Given the description of an element on the screen output the (x, y) to click on. 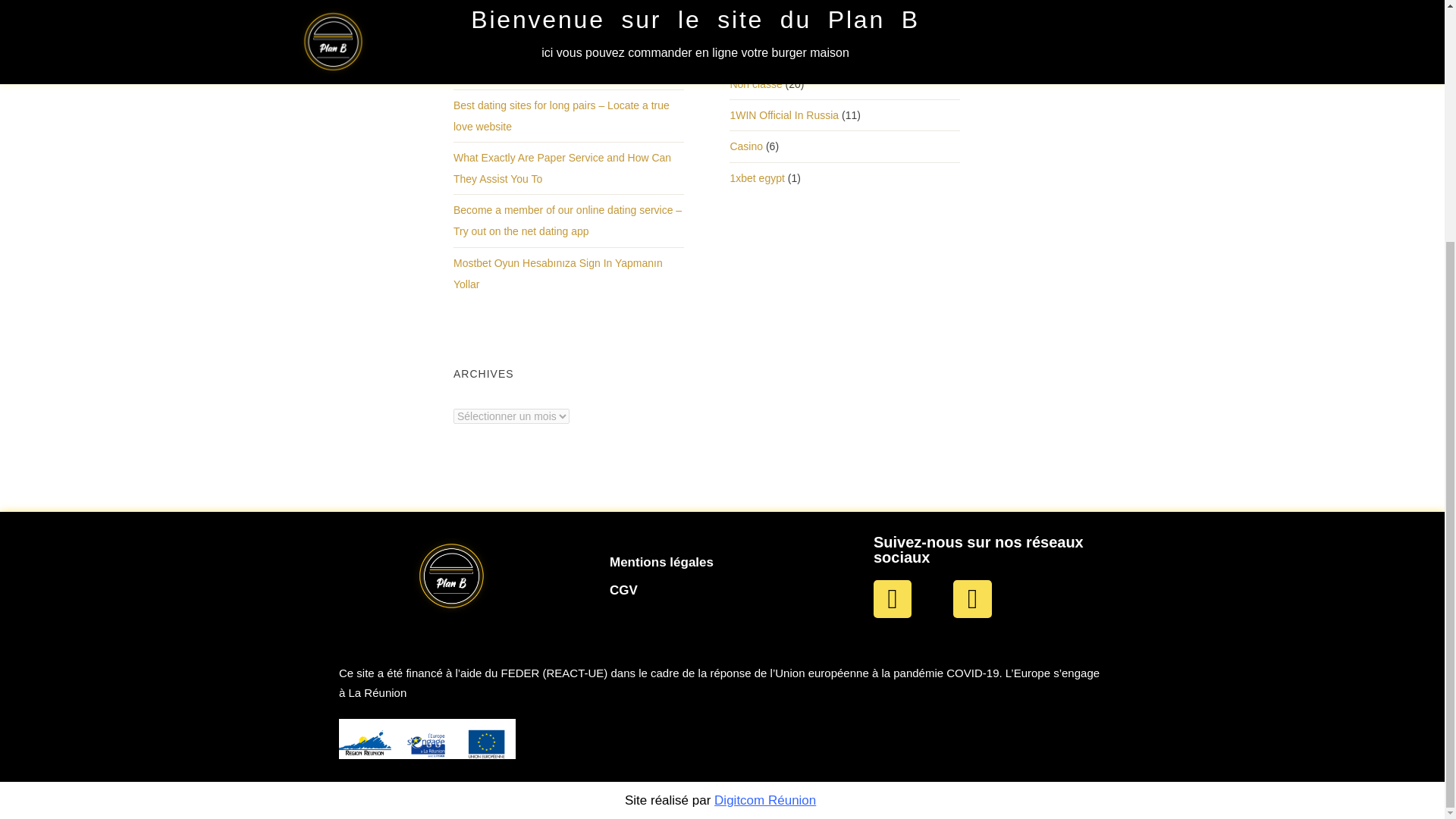
1xbet egypt (756, 178)
Casino (745, 146)
CGV (623, 590)
1WIN Official In Russia (783, 115)
blog (739, 52)
